Given the description of an element on the screen output the (x, y) to click on. 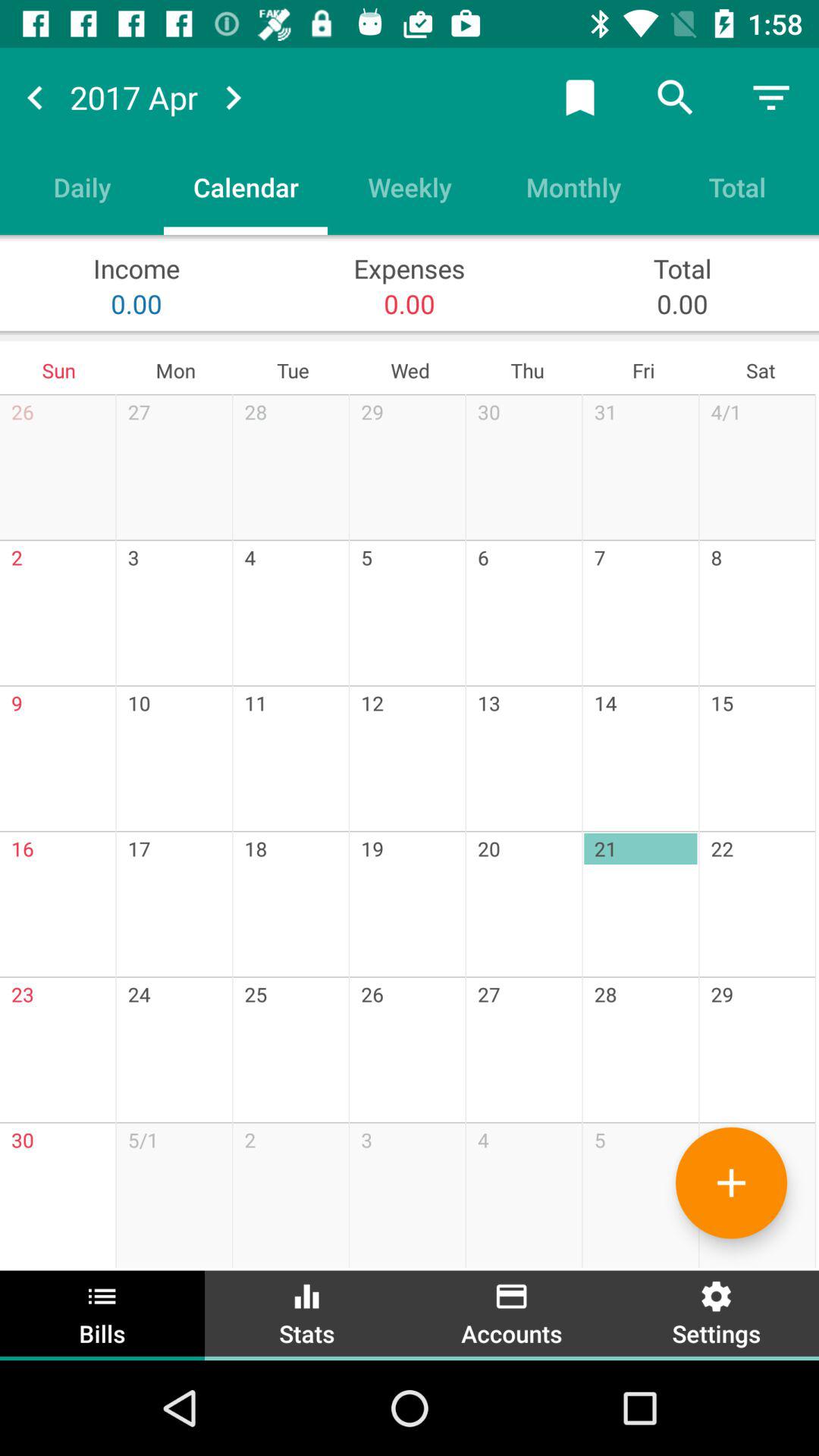
search the app (675, 97)
